Given the description of an element on the screen output the (x, y) to click on. 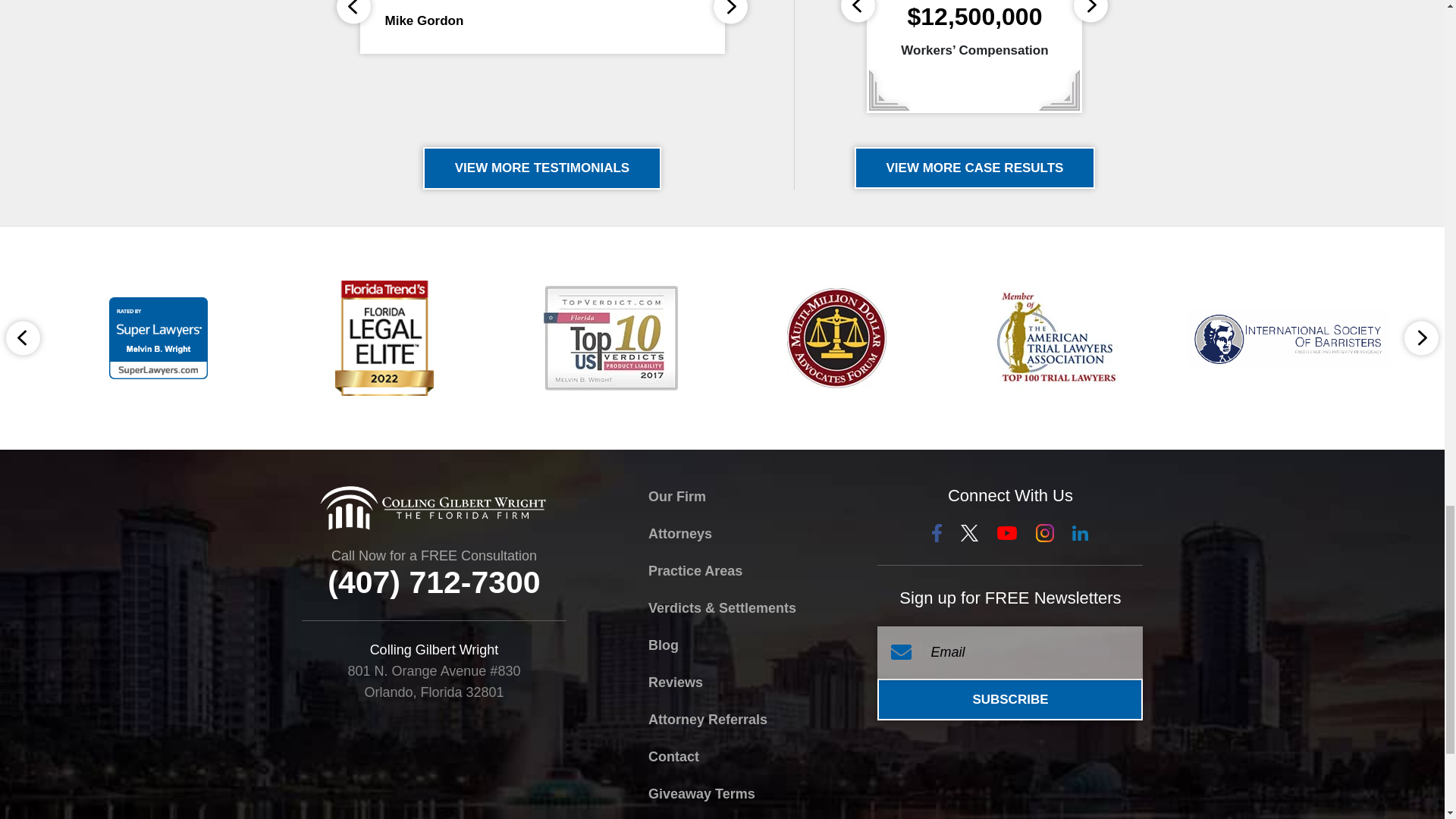
Subscribe (1009, 698)
